Given the description of an element on the screen output the (x, y) to click on. 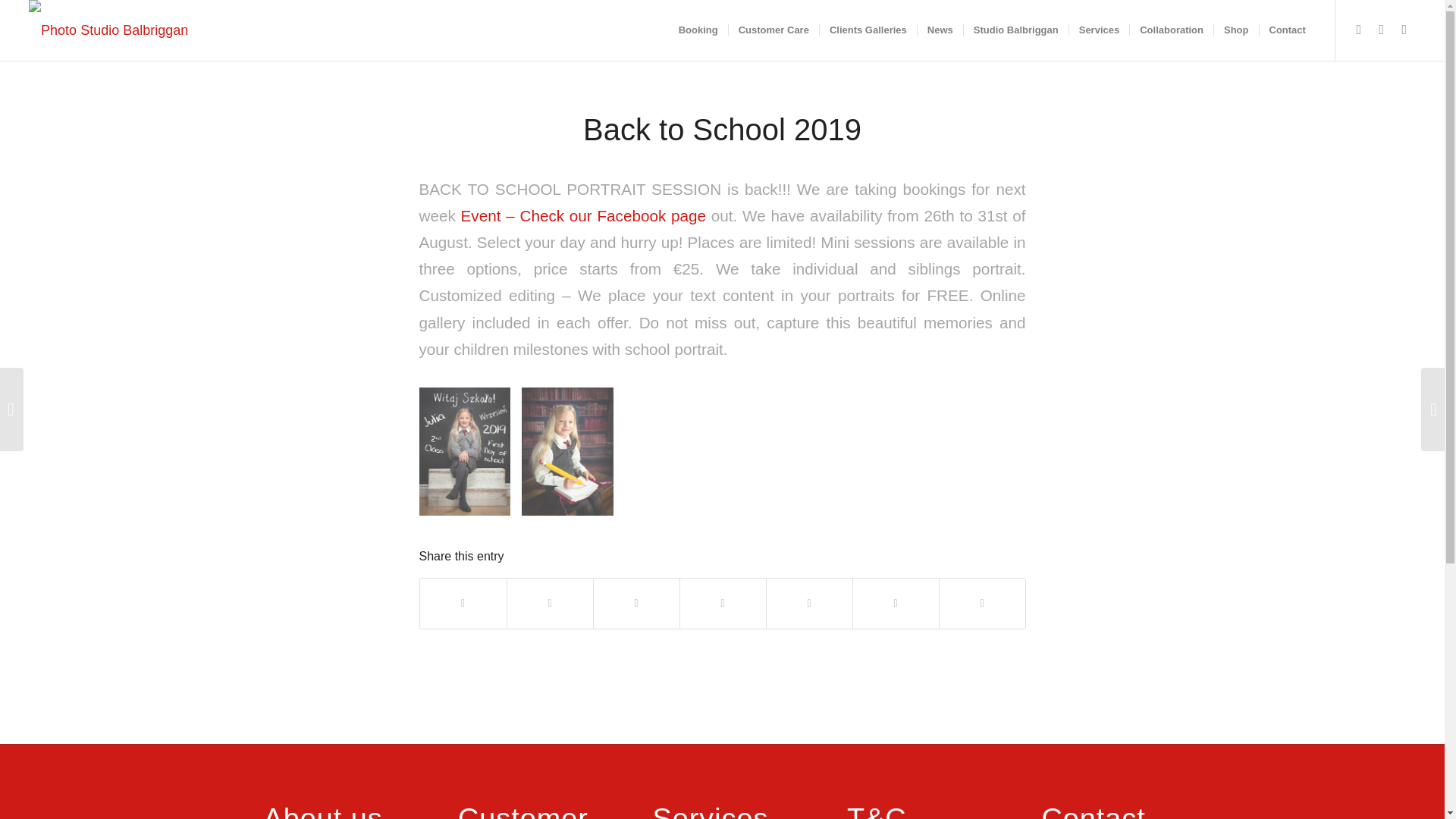
Booking (698, 30)
Instagram (1404, 29)
Services (1098, 30)
Contact (1287, 30)
Clients Galleries (867, 30)
Customer Care (773, 30)
Twitter (1381, 29)
Studio Balbriggan (1015, 30)
Collaboration (1170, 30)
Facebook (1359, 29)
